Given the description of an element on the screen output the (x, y) to click on. 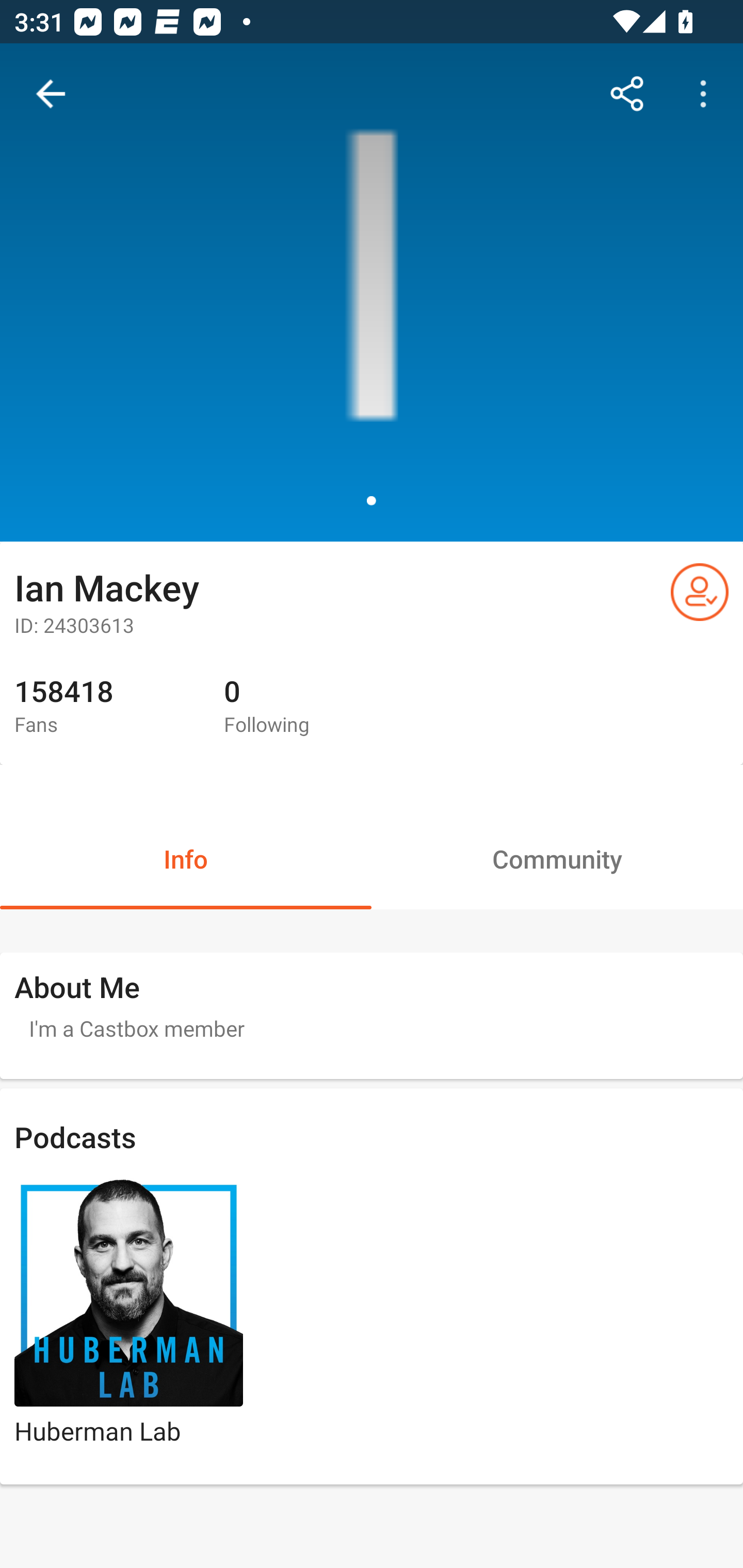
Navigate up (50, 93)
Share (626, 93)
More options (706, 93)
158418 Fans (104, 707)
0 Following (313, 707)
Info (185, 858)
Community (557, 858)
Huberman Lab (128, 1327)
